Given the description of an element on the screen output the (x, y) to click on. 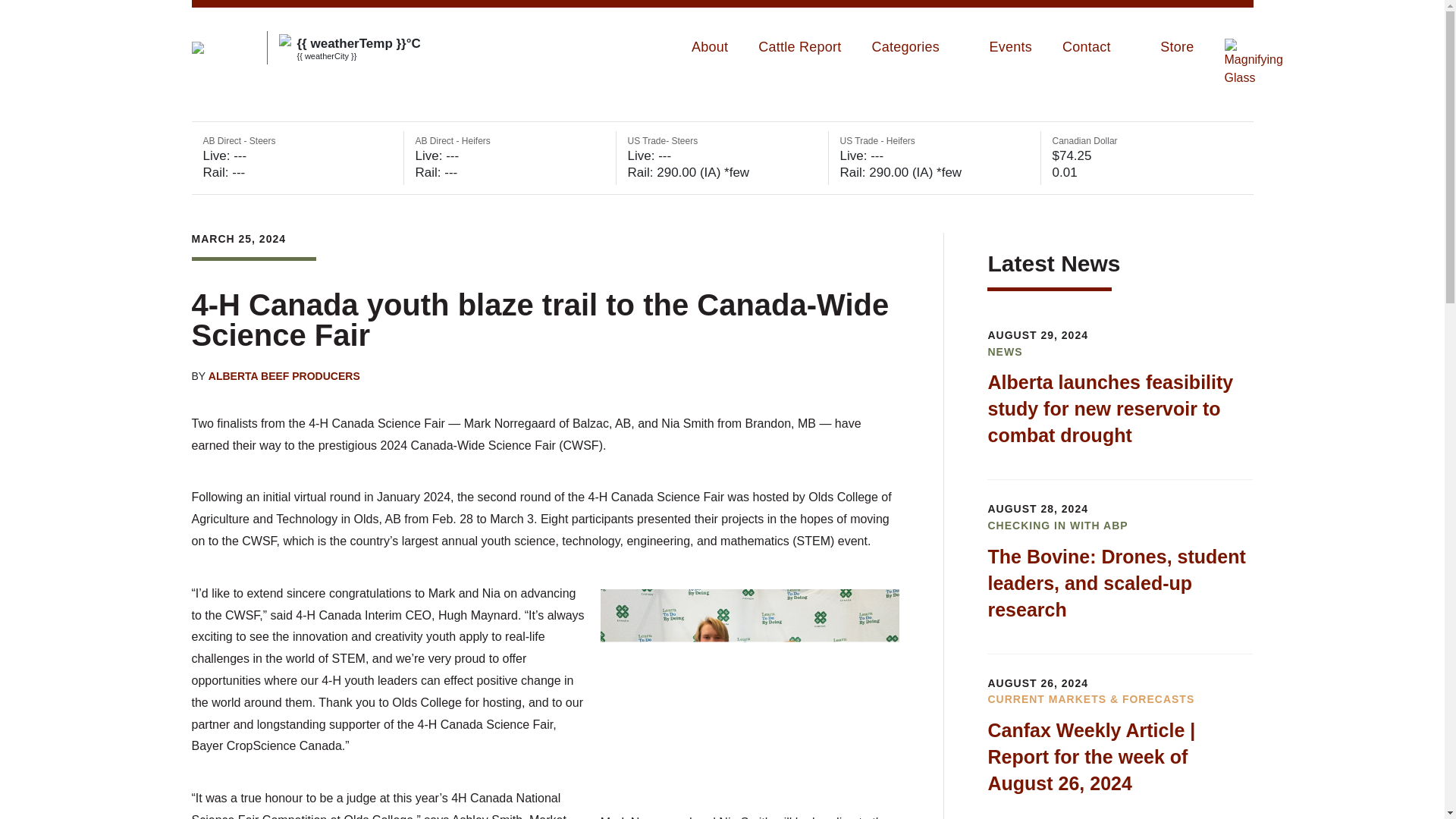
Store (1176, 47)
Contact (1095, 47)
Cattle Report (799, 47)
Events (1009, 47)
About (709, 47)
Events (1009, 47)
About (709, 47)
Categories (914, 47)
Cattle Report (799, 47)
Categories (914, 47)
